Given the description of an element on the screen output the (x, y) to click on. 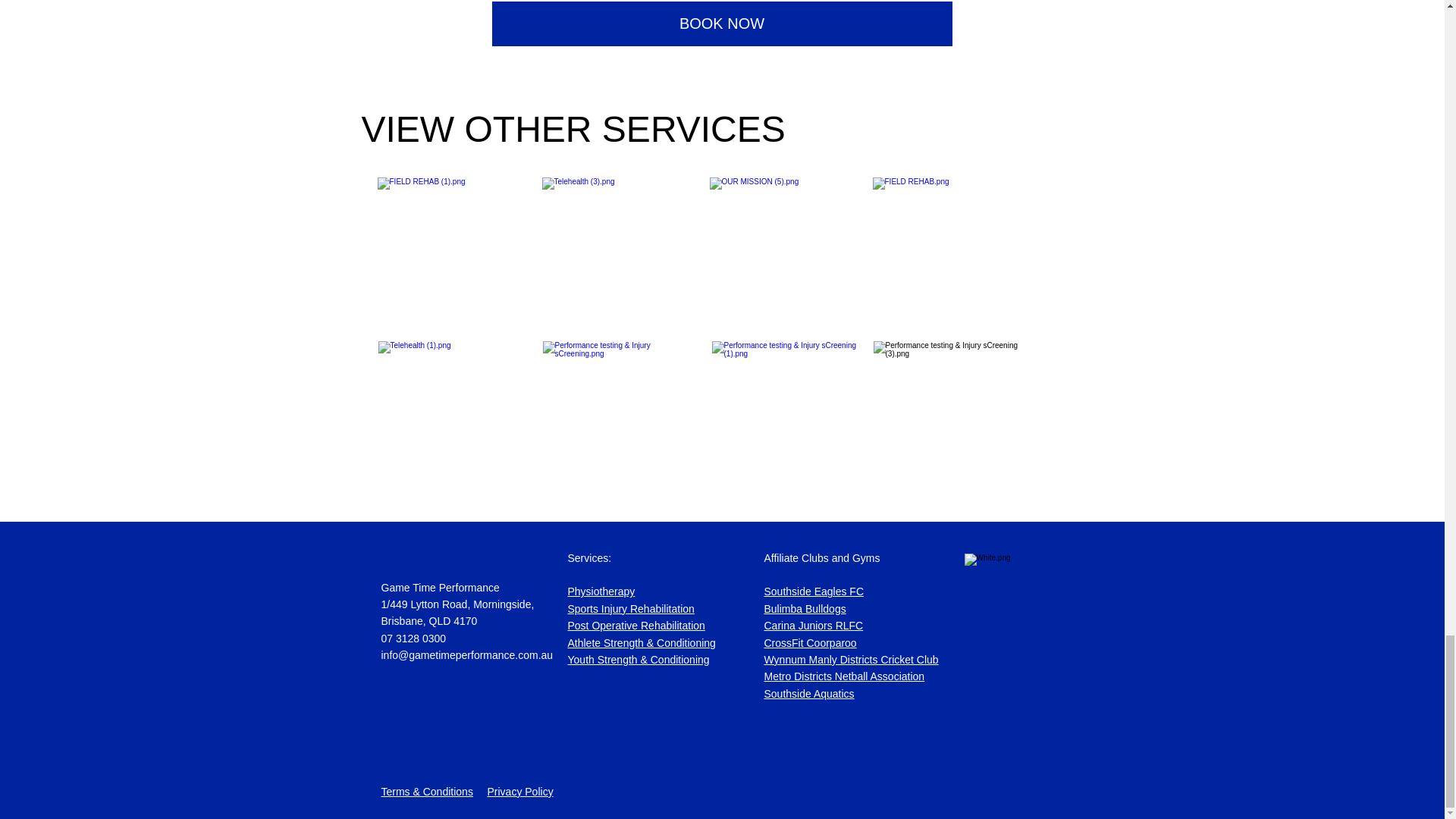
Post Operative Rehabilitation (635, 625)
Metro Districts Netball Association (844, 676)
Southside Aquatics (809, 693)
CrossFit Coorparoo (630, 599)
Wynnum Manly Districts Cricket Club (810, 643)
Southside Eagles FC (851, 659)
Privacy Policy (813, 616)
BOOK NOW (814, 599)
